Given the description of an element on the screen output the (x, y) to click on. 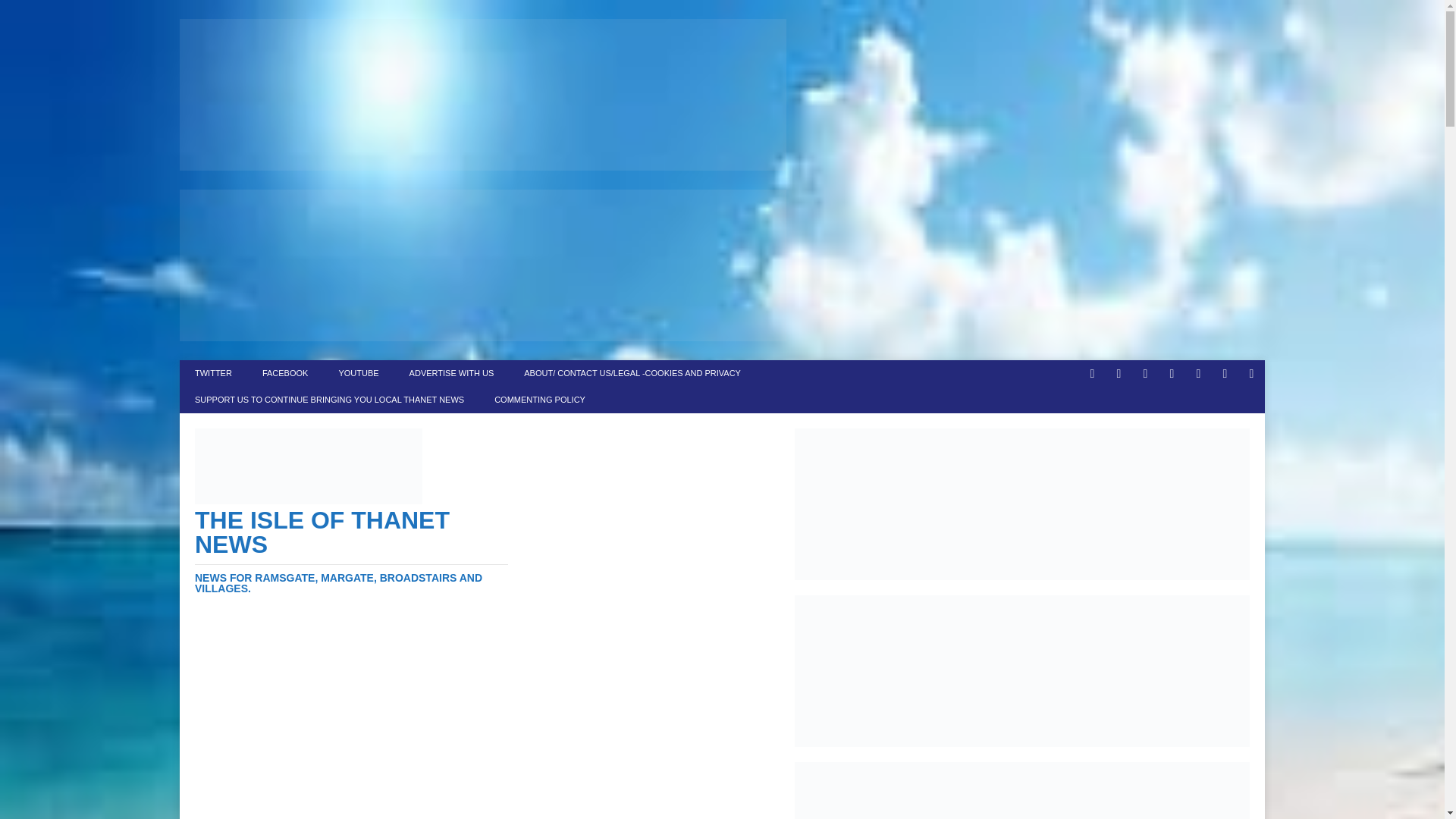
TWITTER (213, 373)
SUPPORT US TO CONTINUE BRINGING YOU LOCAL THANET NEWS (329, 399)
FACEBOOK (285, 373)
The Isle Of Thanet News (351, 550)
COMMENTING POLICY (539, 399)
YOUTUBE (358, 373)
ADVERTISE WITH US (451, 373)
